Given the description of an element on the screen output the (x, y) to click on. 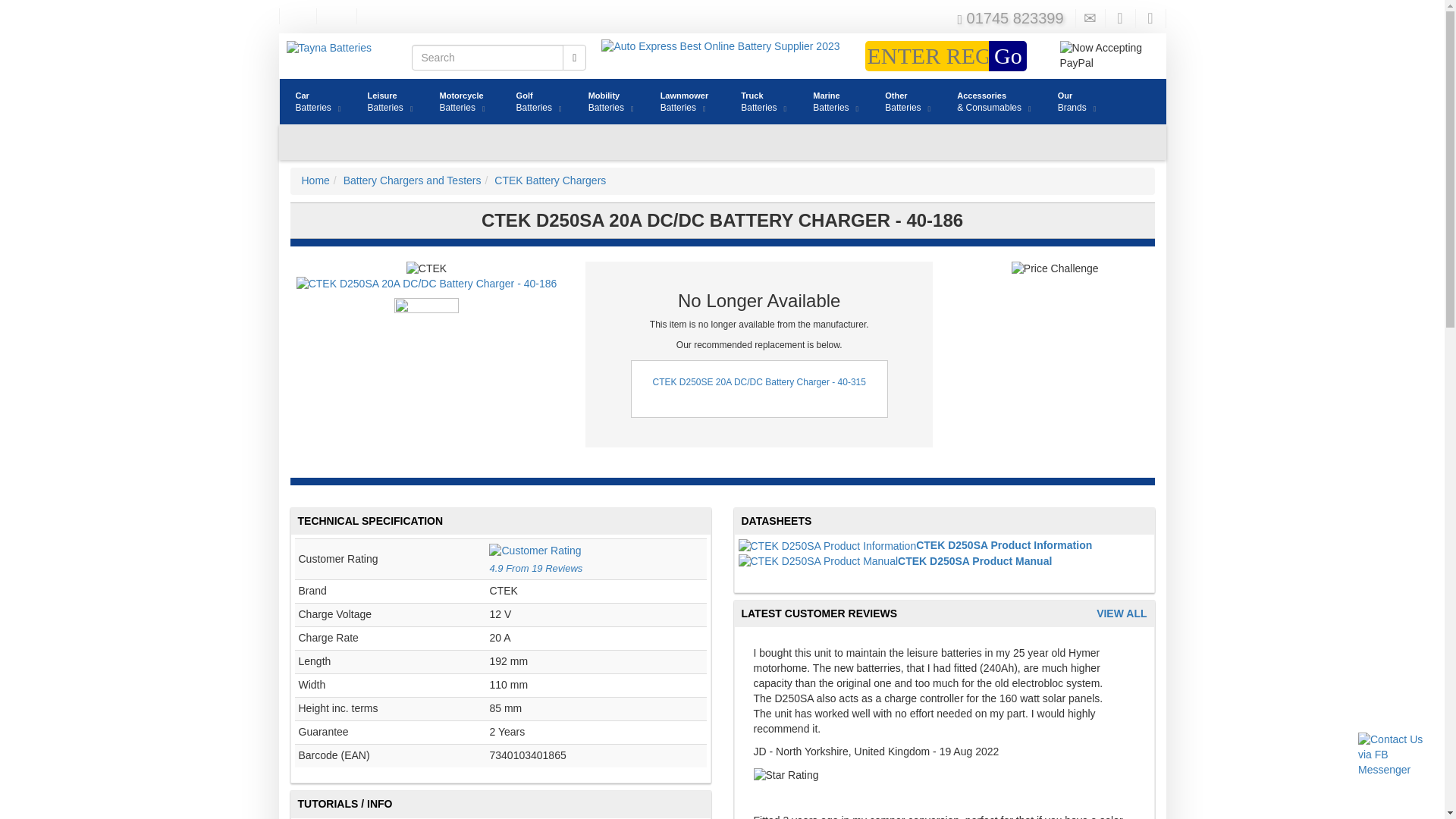
Contact Us (1090, 18)
My Account (315, 101)
View Cart (1120, 18)
Go (1150, 18)
Go (1007, 55)
